Given the description of an element on the screen output the (x, y) to click on. 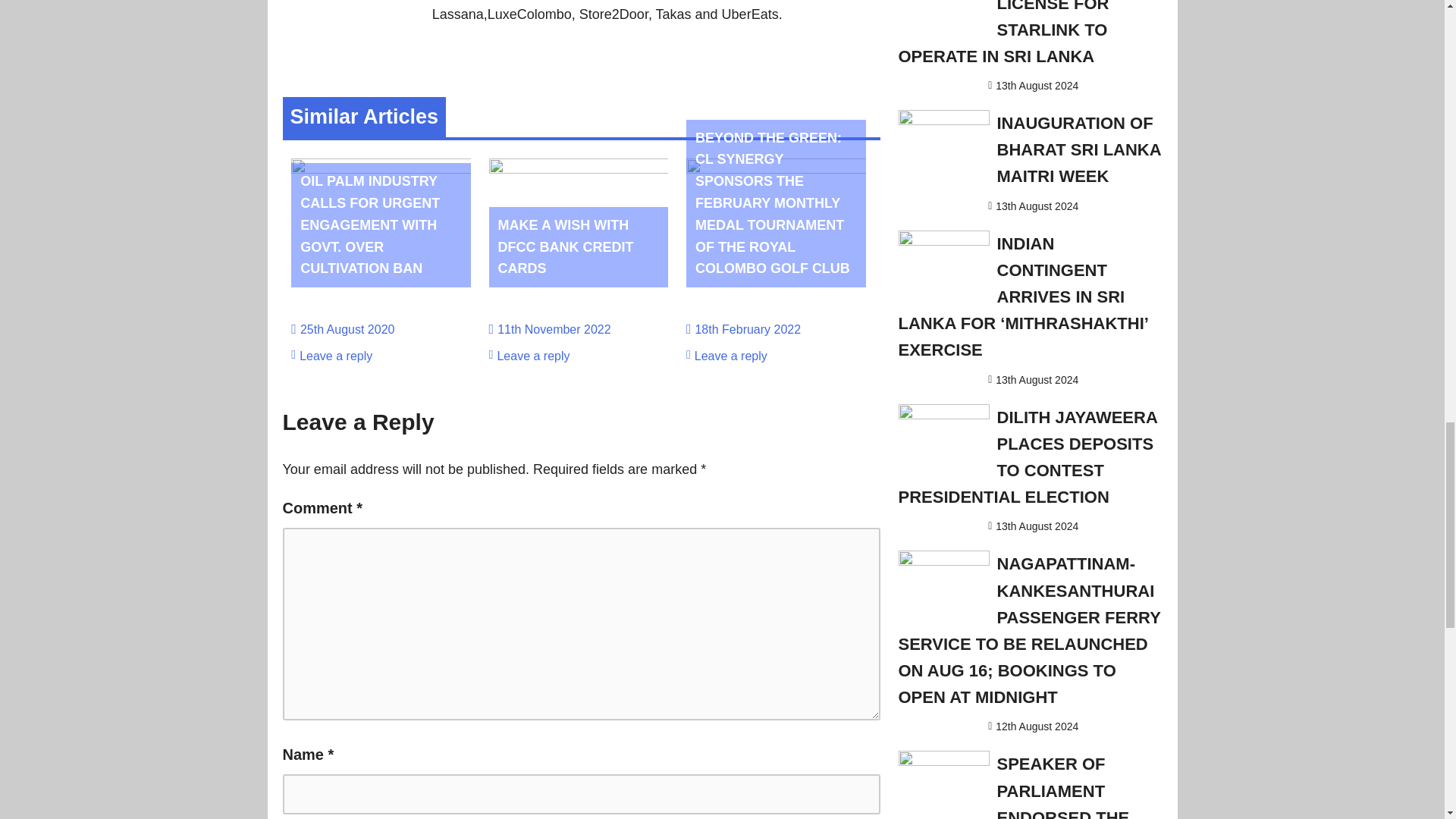
MAKE A WISH WITH DFCC BANK CREDIT CARDS (565, 246)
Make a Wish with DFCC Bank Credit Cards (578, 168)
Make a Wish with DFCC Bank Credit Cards (565, 246)
Leave a reply (335, 355)
